Given the description of an element on the screen output the (x, y) to click on. 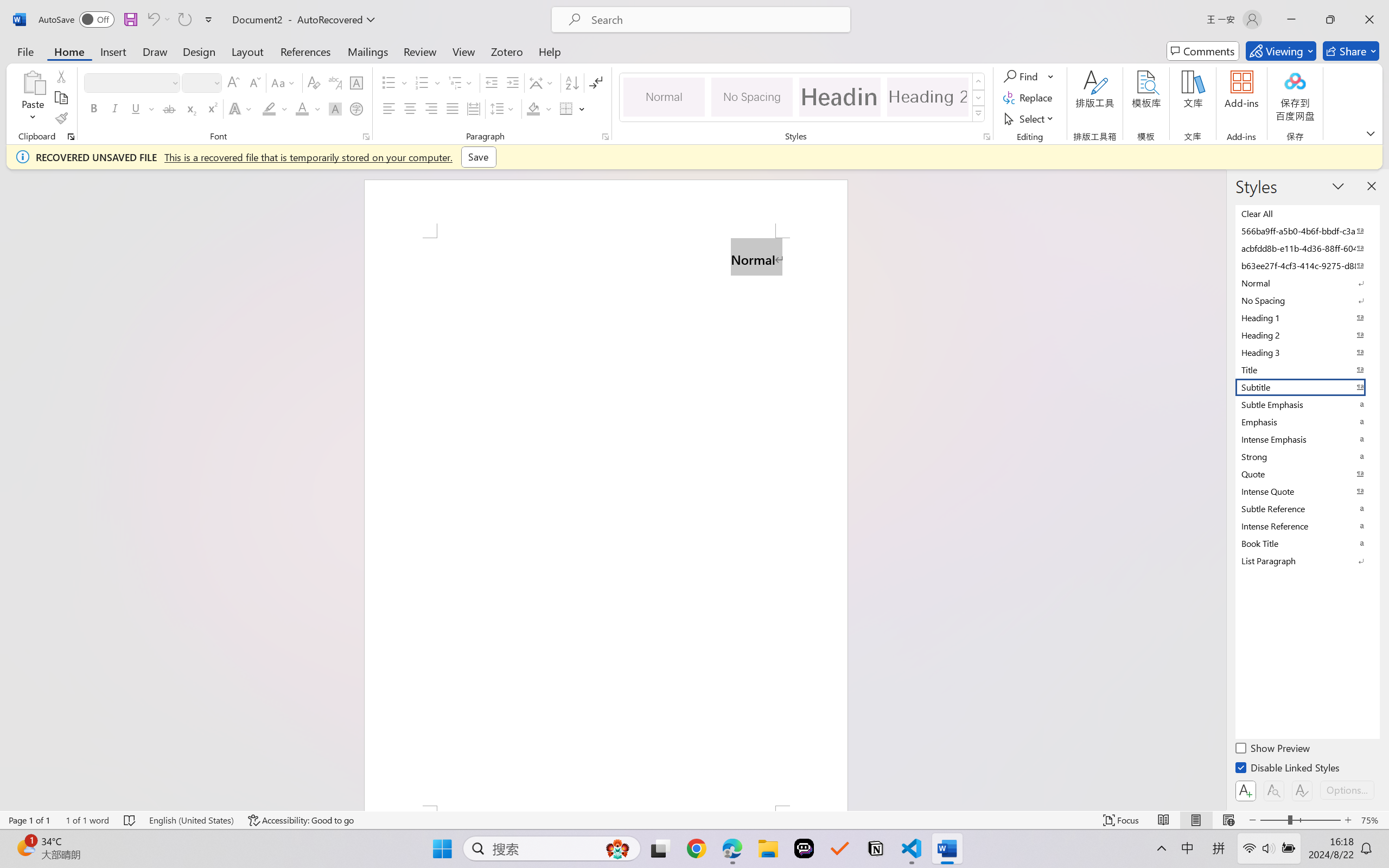
Font Color (308, 108)
Bold (94, 108)
Row Down (978, 97)
Heading 2 (927, 96)
Office Clipboard... (70, 136)
Show/Hide Editing Marks (595, 82)
Can't Repeat (184, 19)
Cut (60, 75)
